Given the description of an element on the screen output the (x, y) to click on. 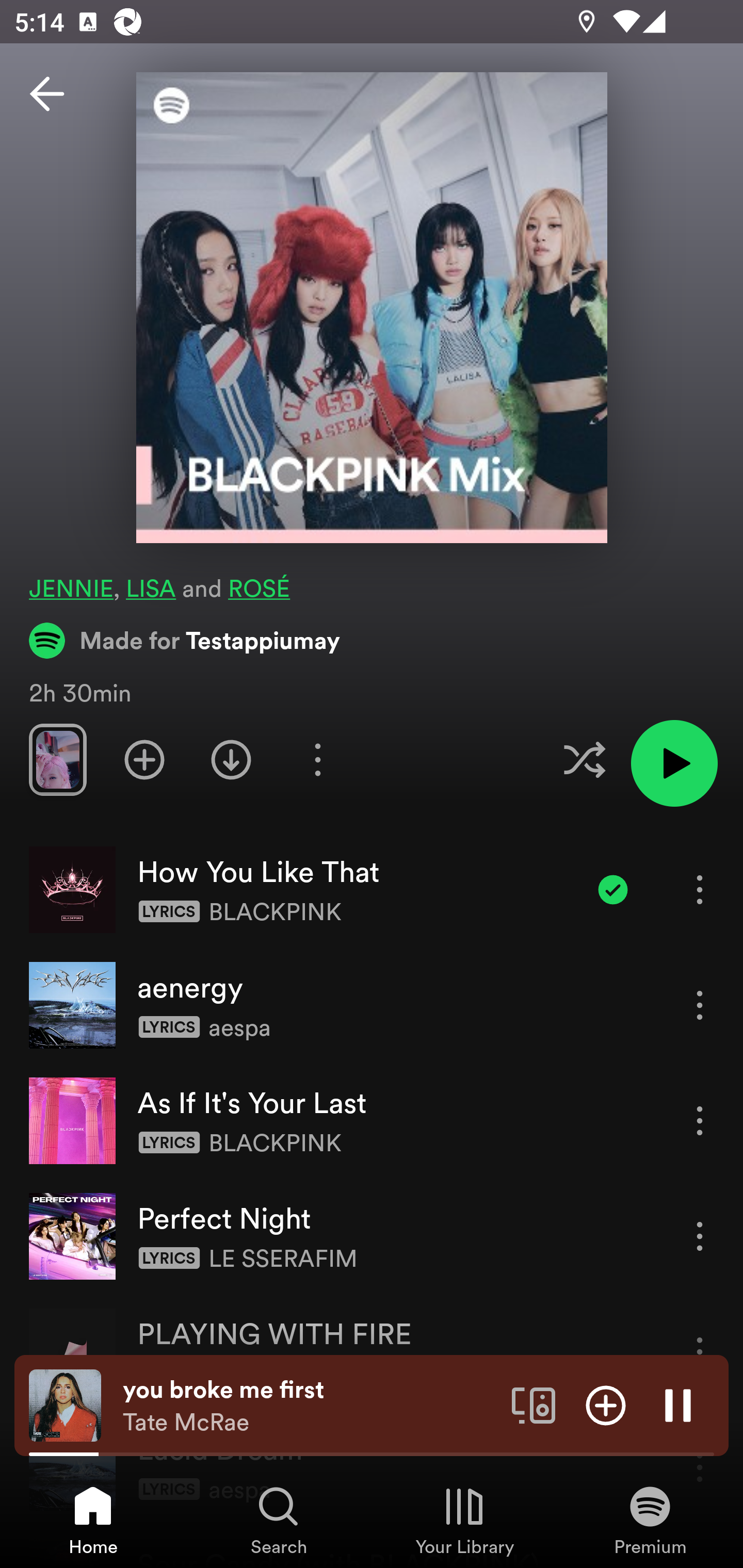
Back (46, 93)
Made for Testappiumay (184, 640)
Add playlist to Your Library (144, 759)
Download (230, 759)
More options for playlist BLACKPINK Mix (317, 759)
Enable shuffle for this playlist (583, 759)
Play playlist (674, 763)
Item added (612, 889)
More options for song How You Like That (699, 889)
aenergy More options for song aenergy Lyrics aespa (371, 1005)
More options for song aenergy (699, 1004)
More options for song As If It's Your Last (699, 1120)
More options for song Perfect Night (699, 1236)
you broke me first Tate McRae (309, 1405)
The cover art of the currently playing track (64, 1404)
Connect to a device. Opens the devices menu (533, 1404)
Add item (605, 1404)
Pause (677, 1404)
Home, Tab 1 of 4 Home Home (92, 1519)
Search, Tab 2 of 4 Search Search (278, 1519)
Your Library, Tab 3 of 4 Your Library Your Library (464, 1519)
Premium, Tab 4 of 4 Premium Premium (650, 1519)
